Given the description of an element on the screen output the (x, y) to click on. 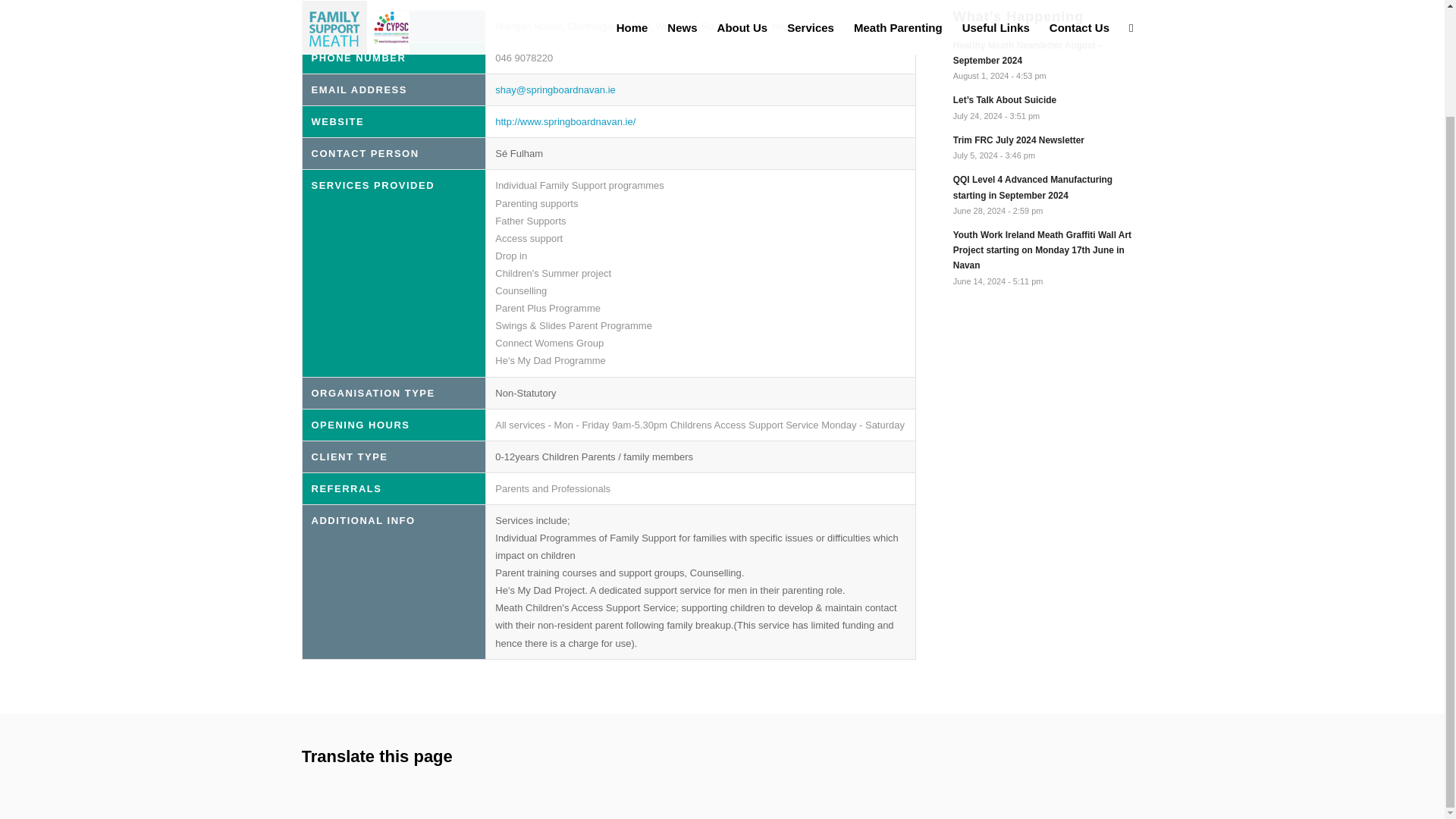
Trim FRC July 2024 Newsletter (1047, 146)
